Given the description of an element on the screen output the (x, y) to click on. 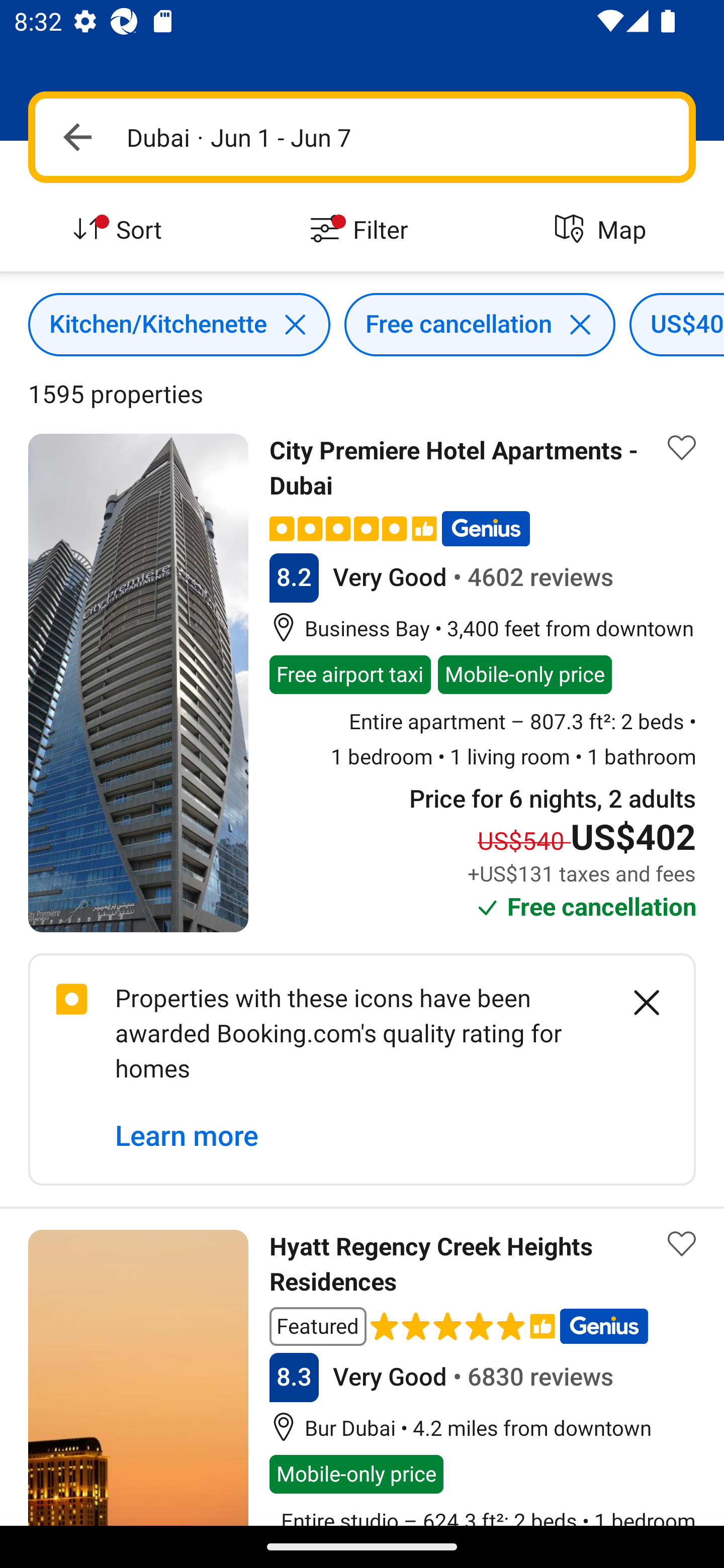
Navigate up Dubai · Jun 1 - Jun 7 (362, 136)
Navigate up (77, 136)
Sort (120, 230)
Filter (361, 230)
Map (603, 230)
Save property to list (681, 447)
Clear (635, 1001)
Learn more (187, 1136)
Save property to list (681, 1243)
